Given the description of an element on the screen output the (x, y) to click on. 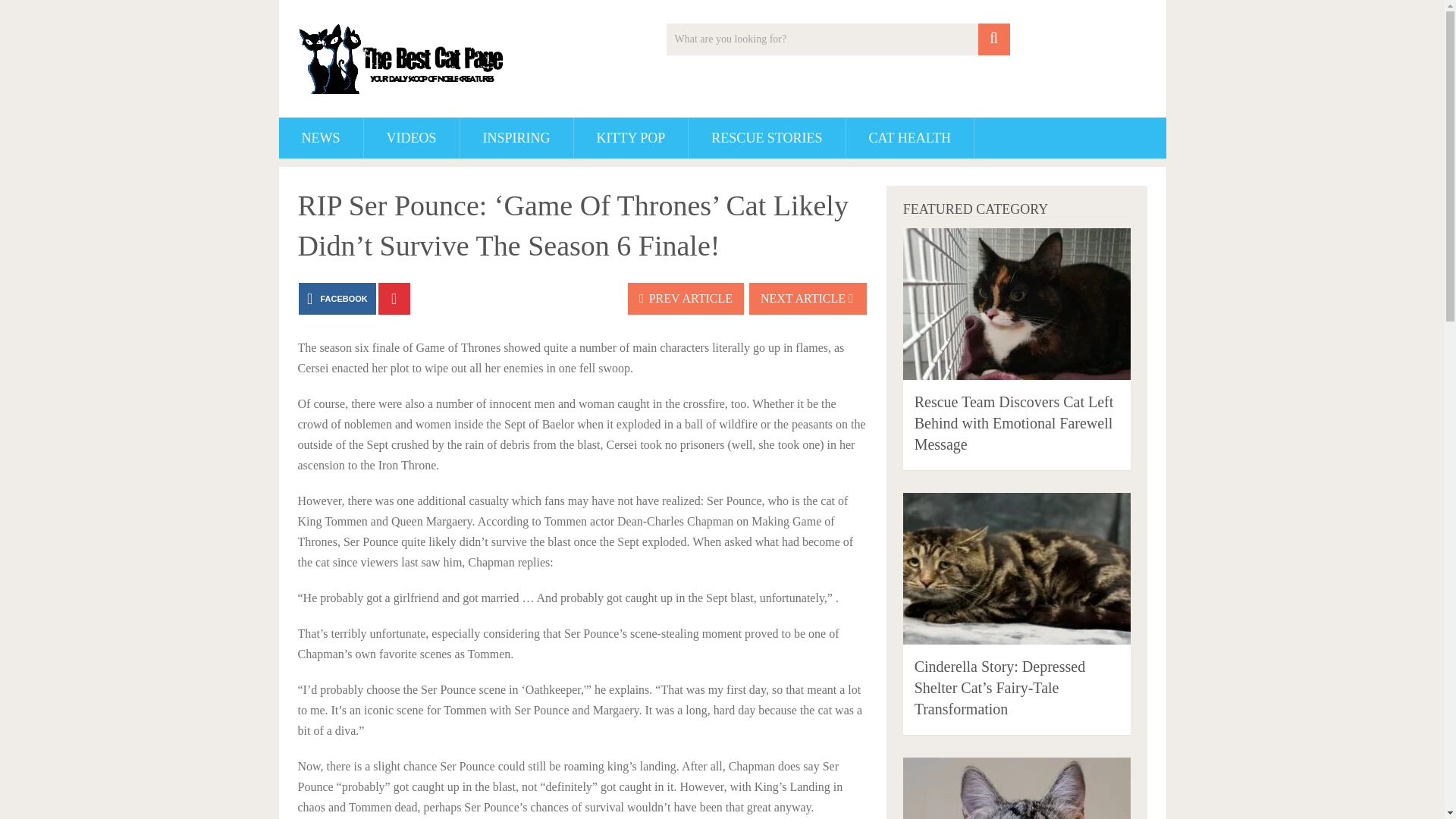
PREV ARTICLE (685, 298)
KITTY POP (630, 137)
FACEBOOK (336, 298)
INSPIRING (516, 137)
CAT HEALTH (909, 137)
VIDEOS (412, 137)
RESCUE STORIES (766, 137)
NEXT ARTICLE (807, 298)
NEWS (320, 137)
